Given the description of an element on the screen output the (x, y) to click on. 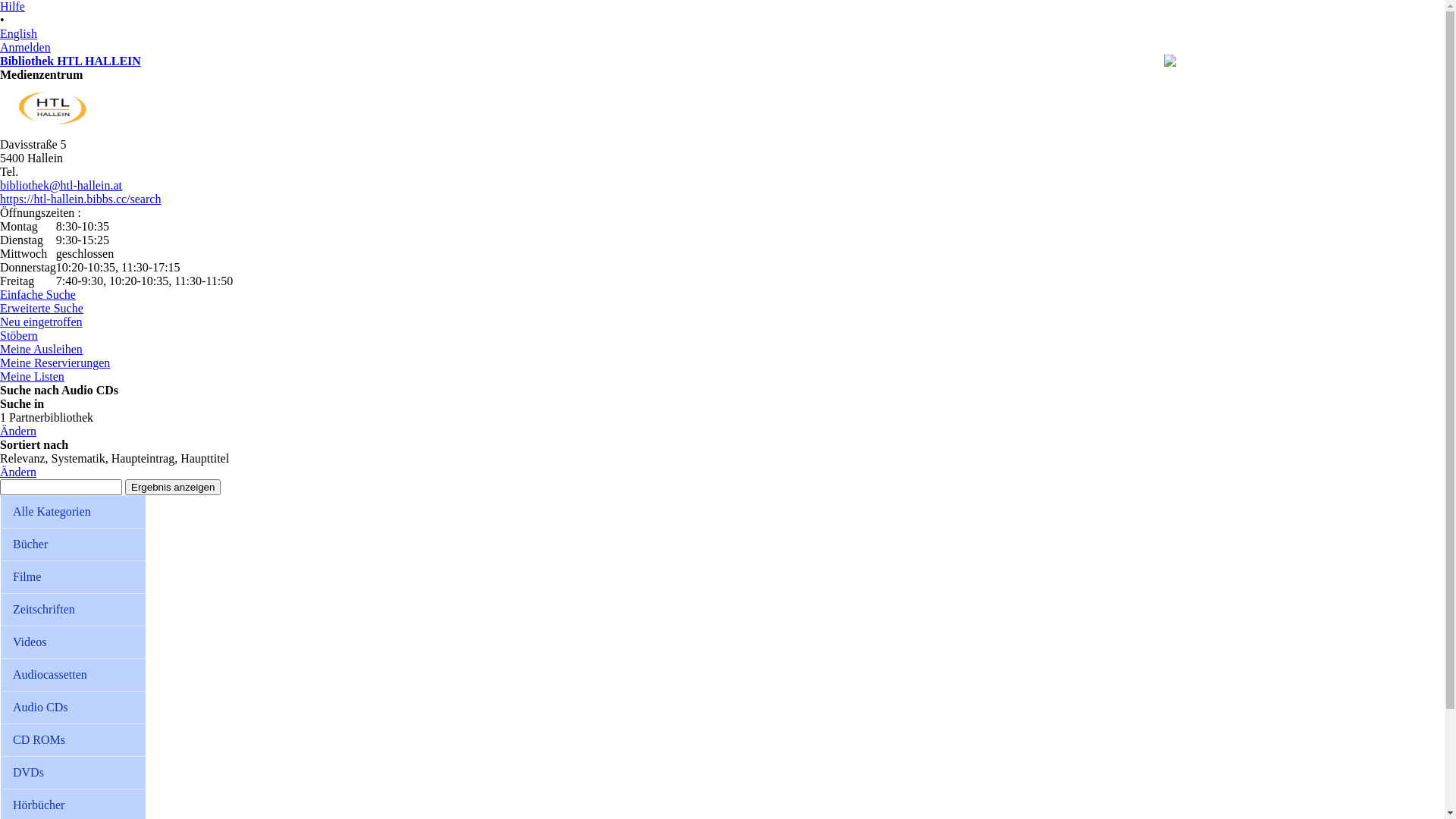
Meine Reservierungen Element type: text (54, 362)
Videos Element type: text (72, 641)
bibliothek@htl-hallein.at Element type: text (61, 184)
Meine Listen Element type: text (32, 376)
Bibliothek HTL HALLEIN Element type: text (70, 60)
DVDs Element type: text (72, 772)
Neu eingetroffen Element type: text (41, 321)
Hilfe Element type: text (12, 6)
Audio CDs Element type: text (72, 706)
English Element type: text (18, 33)
https://htl-hallein.bibbs.cc/search Element type: text (80, 198)
Meine Ausleihen Element type: text (41, 348)
Ergebnis anzeigen Element type: text (172, 487)
Erweiterte Suche Element type: text (41, 307)
Audiocassetten Element type: text (72, 674)
Anmelden Element type: text (25, 46)
Einfache Suche Element type: text (37, 294)
Alle Kategorien Element type: text (72, 511)
Filme Element type: text (72, 576)
Zeitschriften Element type: text (72, 609)
CD ROMs Element type: text (72, 739)
